Given the description of an element on the screen output the (x, y) to click on. 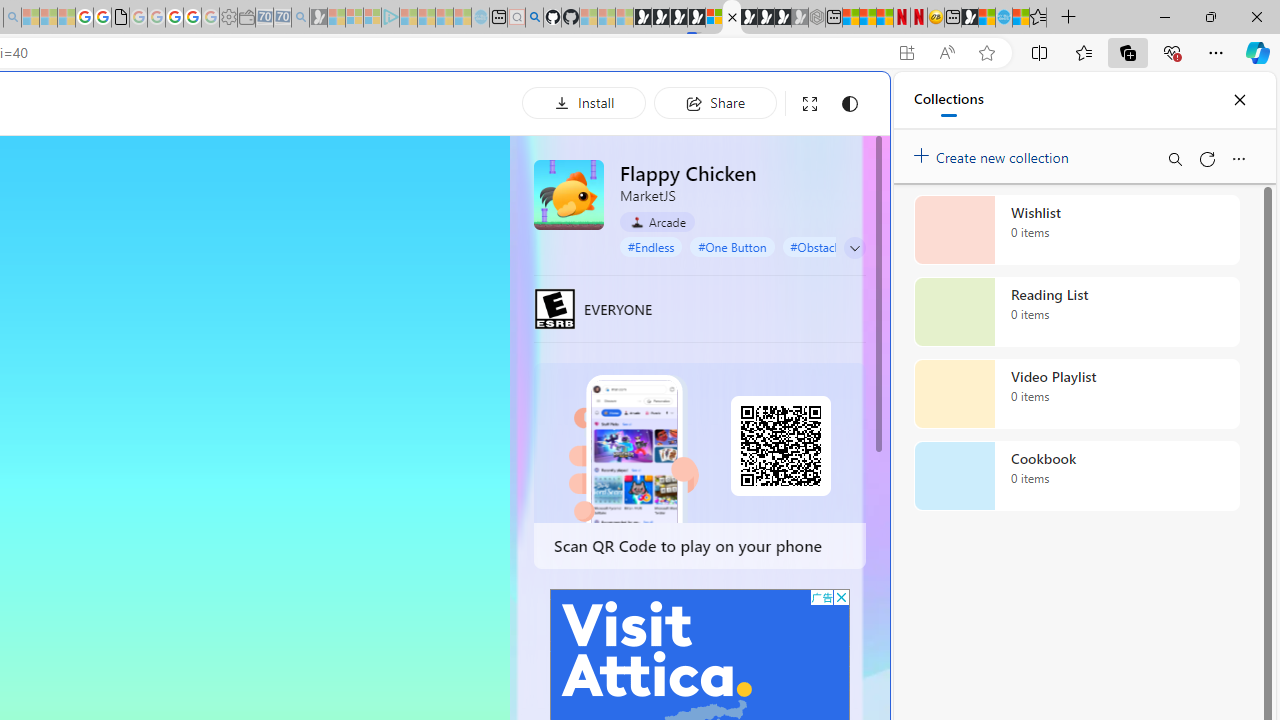
github - Search (534, 17)
AutomationID: cbb (841, 596)
#Obstacle Course (837, 246)
